Given the description of an element on the screen output the (x, y) to click on. 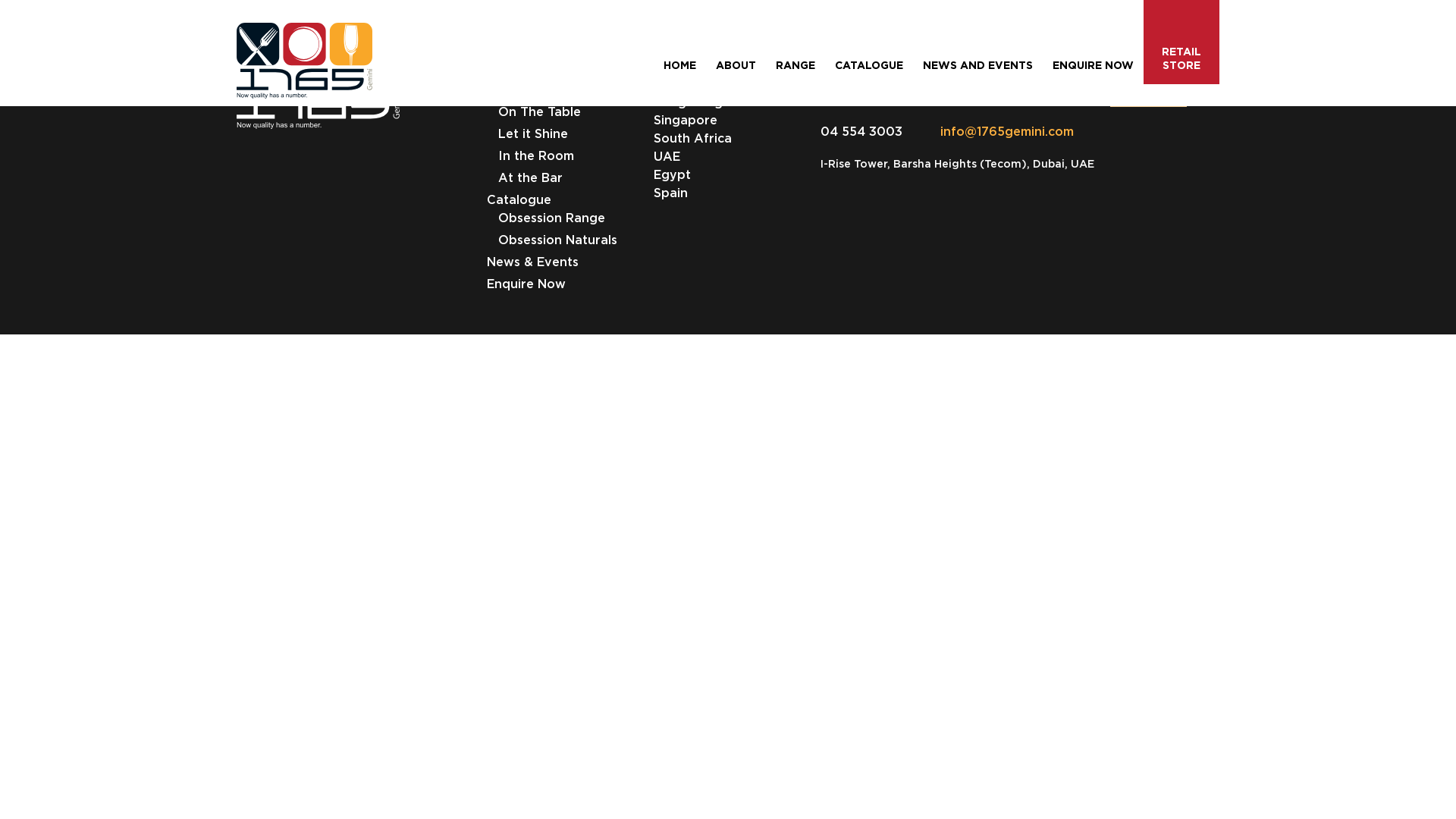
info@1765gemini.com Element type: text (987, 131)
NEWS AND EVENTS Element type: text (977, 65)
Obsession Range Element type: text (551, 219)
HOME Element type: text (679, 65)
CATALOGUE Element type: text (869, 65)
ABOUT Element type: text (735, 65)
Let it Shine Element type: text (532, 135)
Obsession Naturals Element type: text (557, 241)
04 554 3003 Element type: text (861, 131)
Enquire Now Element type: text (525, 285)
News & Events Element type: text (532, 263)
On The Table Element type: text (539, 113)
In the Room Element type: text (536, 157)
ENQUIRE NOW Element type: text (1092, 65)
Home Element type: text (503, 48)
At the Bar Element type: text (530, 179)
RANGE Element type: text (795, 65)
About Element type: text (506, 70)
SUBSCRIBE Element type: text (1148, 89)
